Given the description of an element on the screen output the (x, y) to click on. 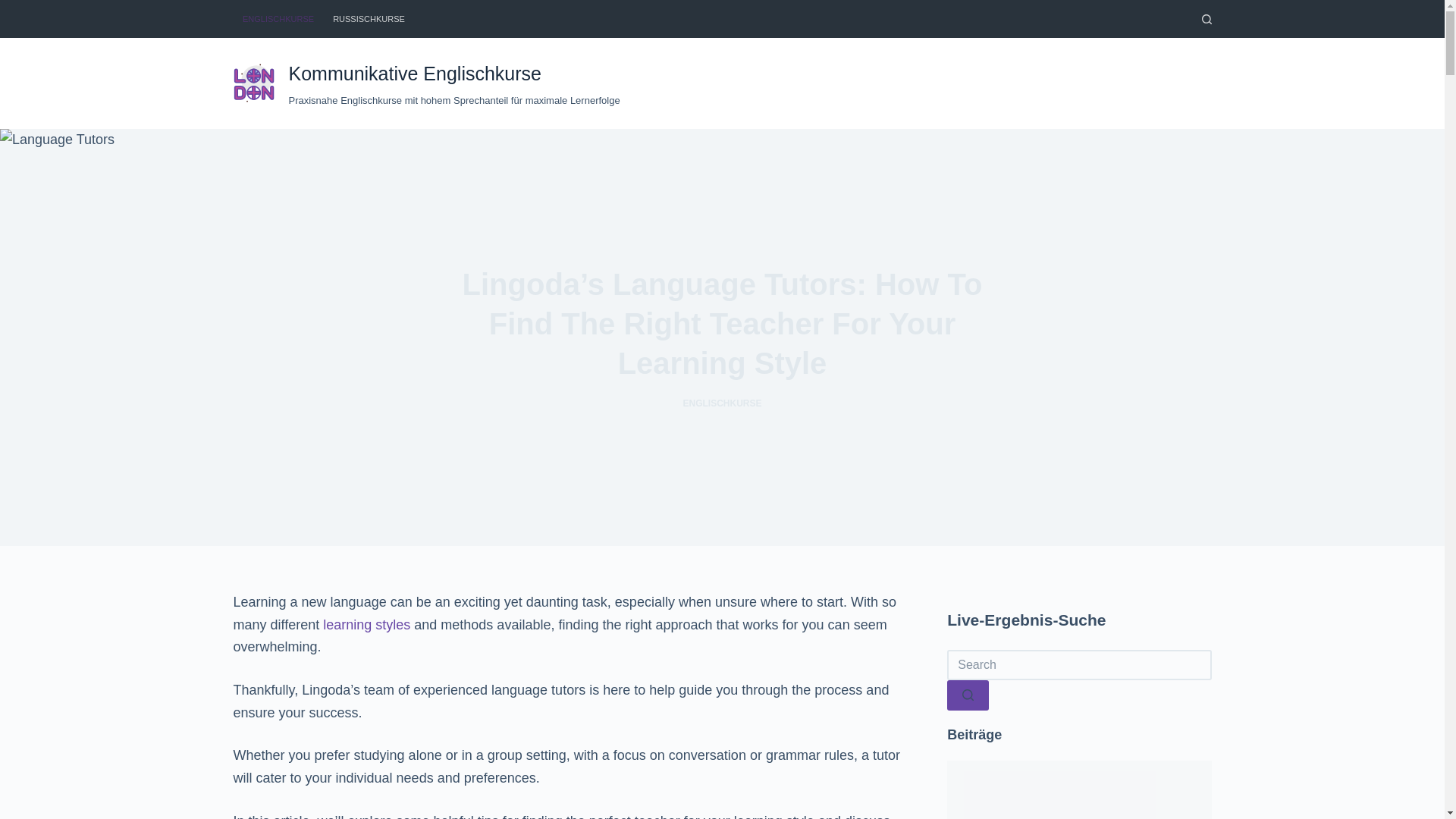
learning styles (366, 624)
ENGLISCHKURSE (721, 403)
RUSSISCHKURSE (368, 18)
ENGLISCHKURSE (277, 18)
Kommunikative Englischkurse (414, 73)
Skip to content (15, 7)
Search for... (1079, 665)
